Given the description of an element on the screen output the (x, y) to click on. 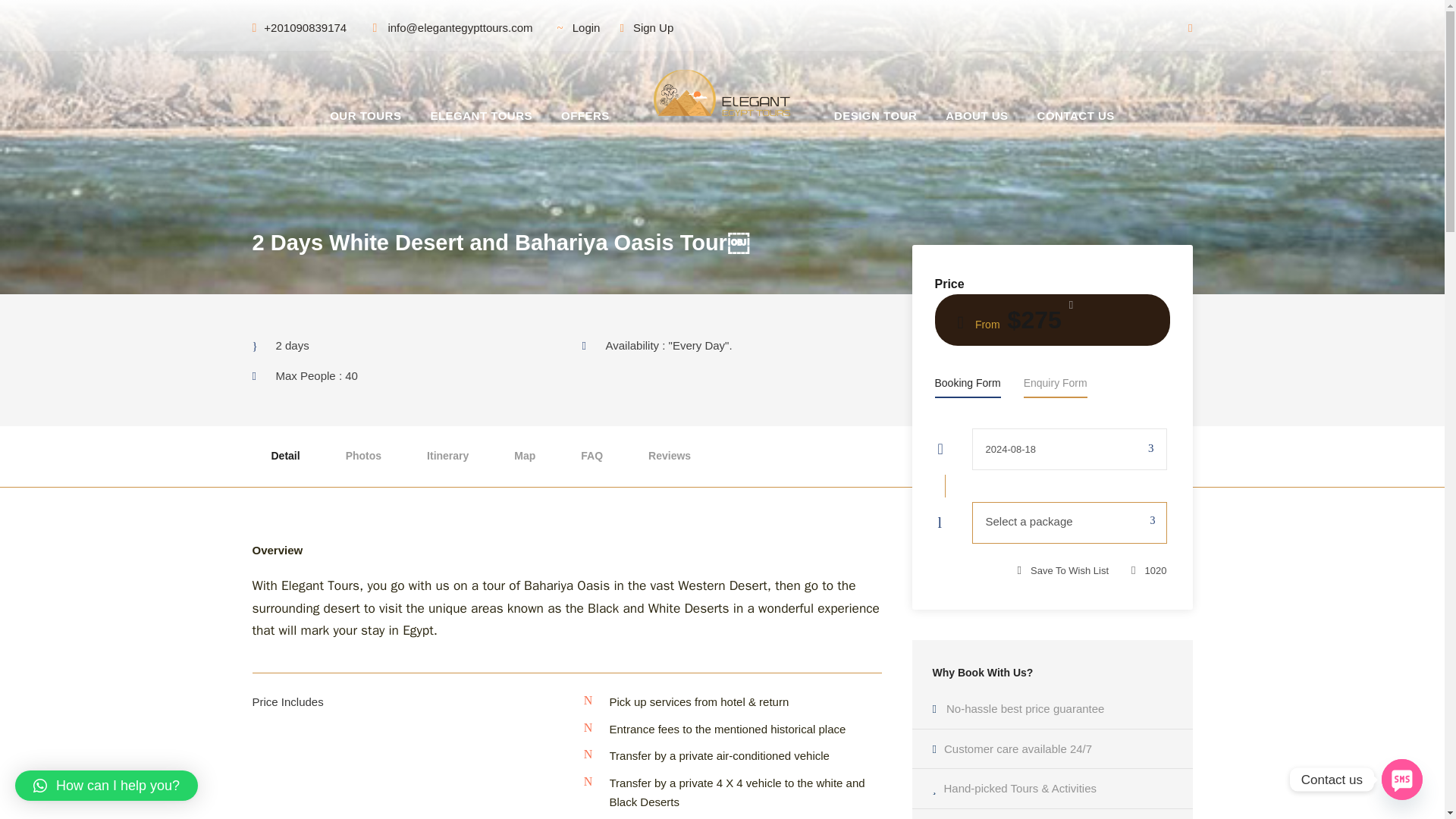
2024-08-18 (1069, 449)
OUR TOURS (365, 106)
Elegant web 2 (721, 92)
